Given the description of an element on the screen output the (x, y) to click on. 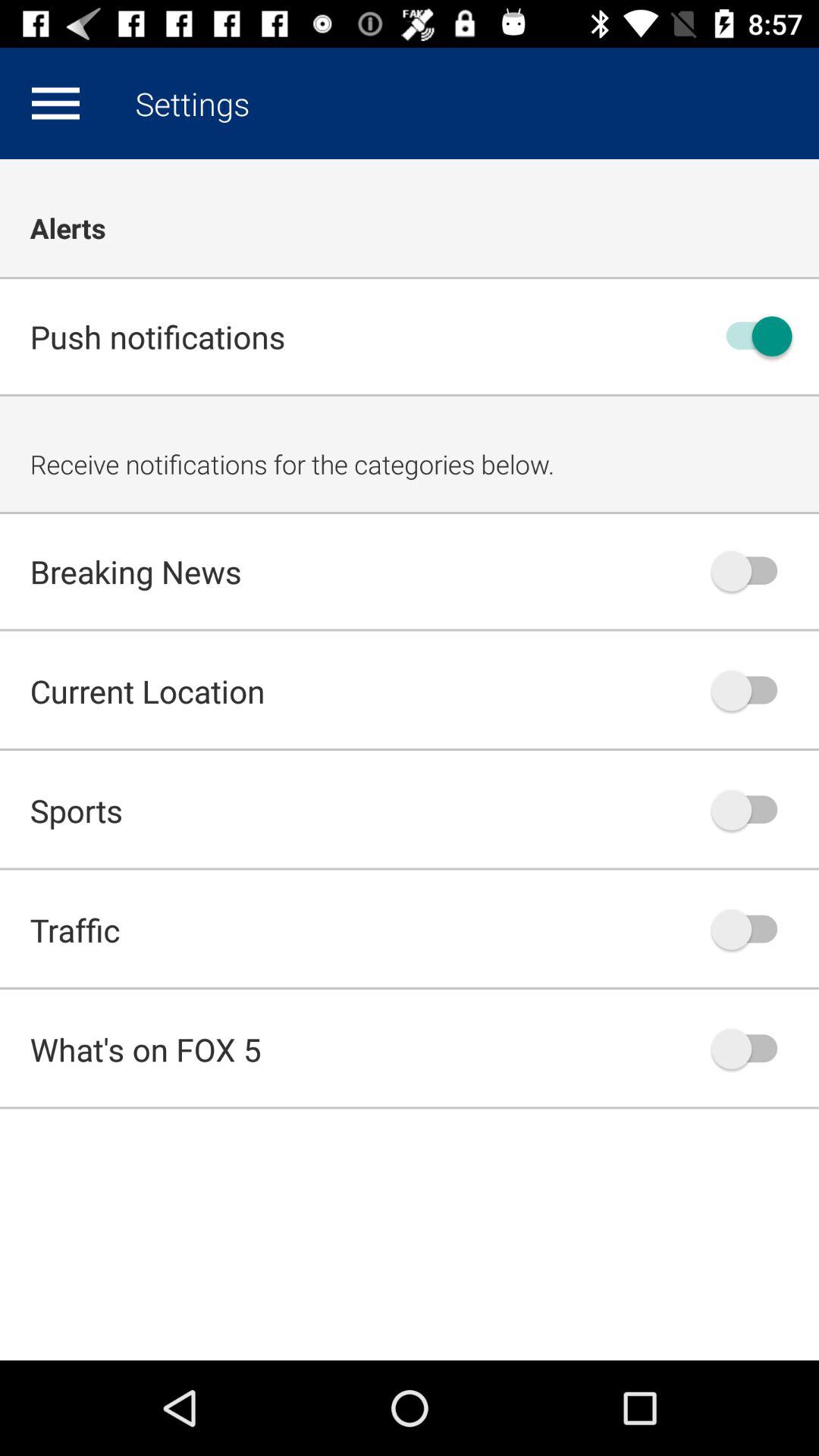
this turns alerts on and off on your phone for this app (751, 336)
